Given the description of an element on the screen output the (x, y) to click on. 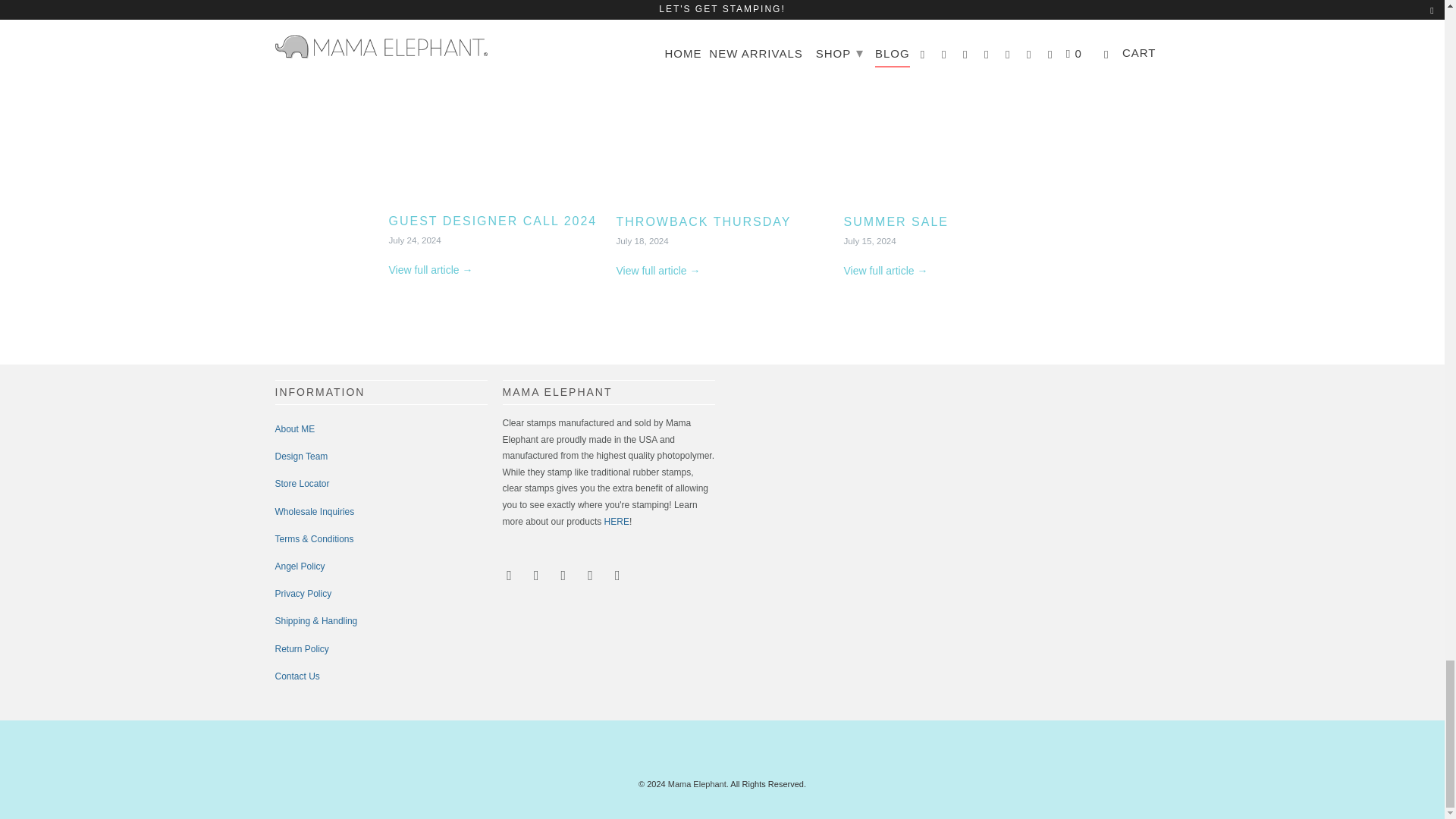
SUMMER SALE (895, 221)
Guest Designer Call 2024 (493, 106)
Throwback Thursday (721, 106)
Guest Designer Call 2024 (492, 220)
Throwback Thursday (702, 221)
SUMMER SALE (949, 106)
Guest Designer Call 2024 (429, 269)
Throwback Thursday (657, 270)
